Given the description of an element on the screen output the (x, y) to click on. 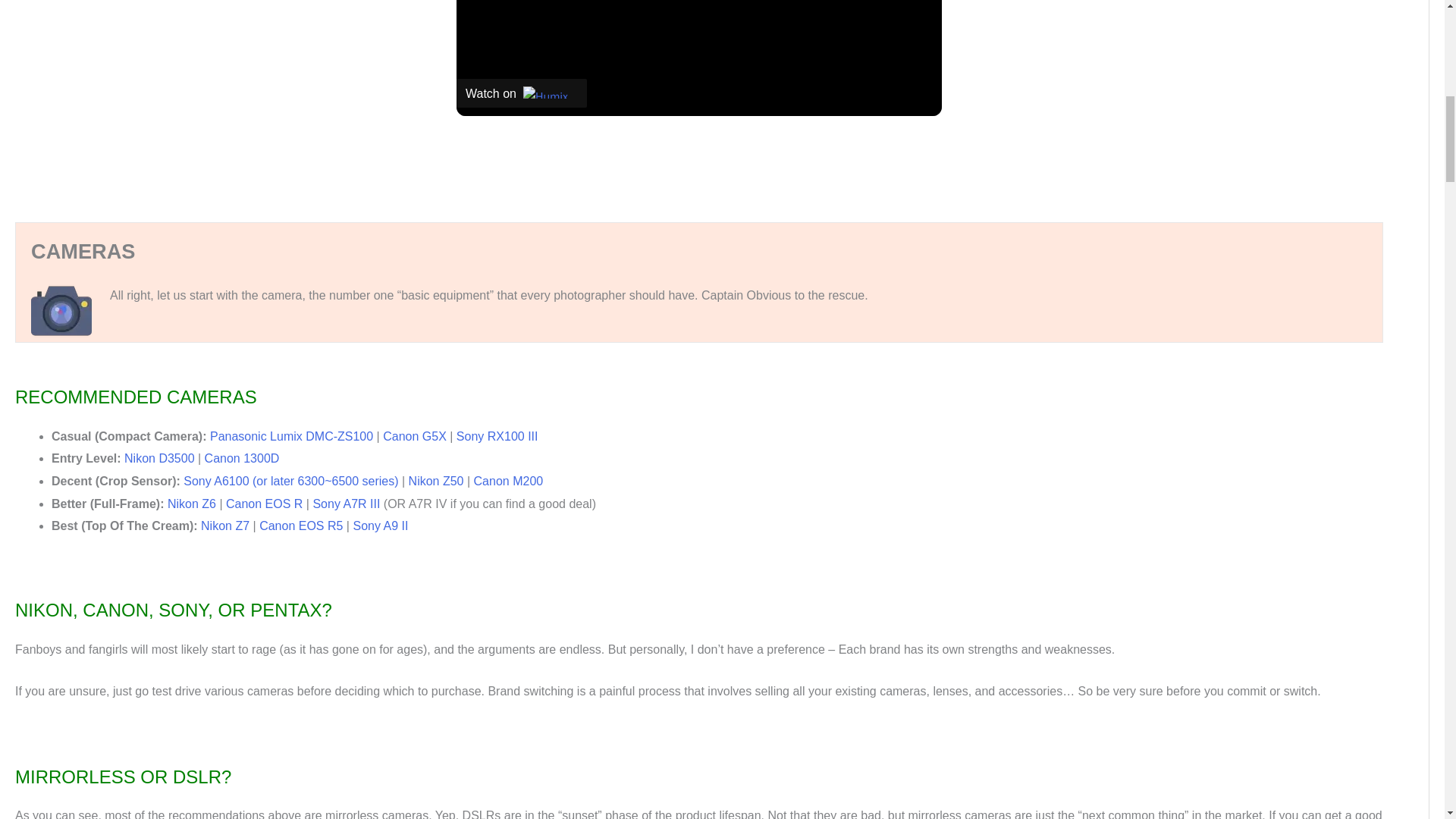
Watch on (521, 92)
Nikon D3500 (159, 458)
Panasonic Lumix DMC-ZS100 (290, 436)
Sony RX100 III (497, 436)
Canon G5X (414, 436)
Canon 1300D (242, 458)
